Given the description of an element on the screen output the (x, y) to click on. 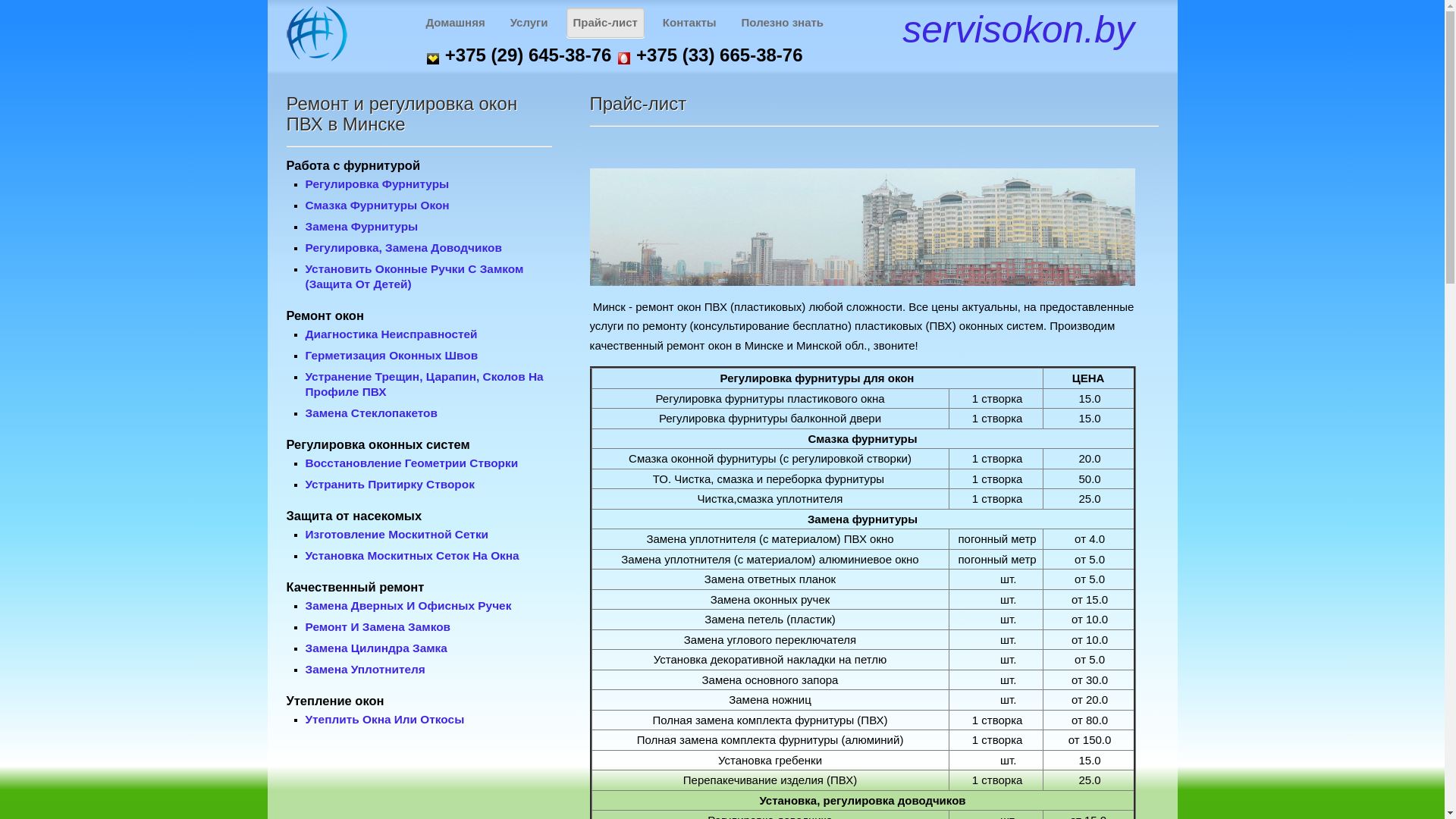
servisokon.by Element type: text (1018, 29)
